Given the description of an element on the screen output the (x, y) to click on. 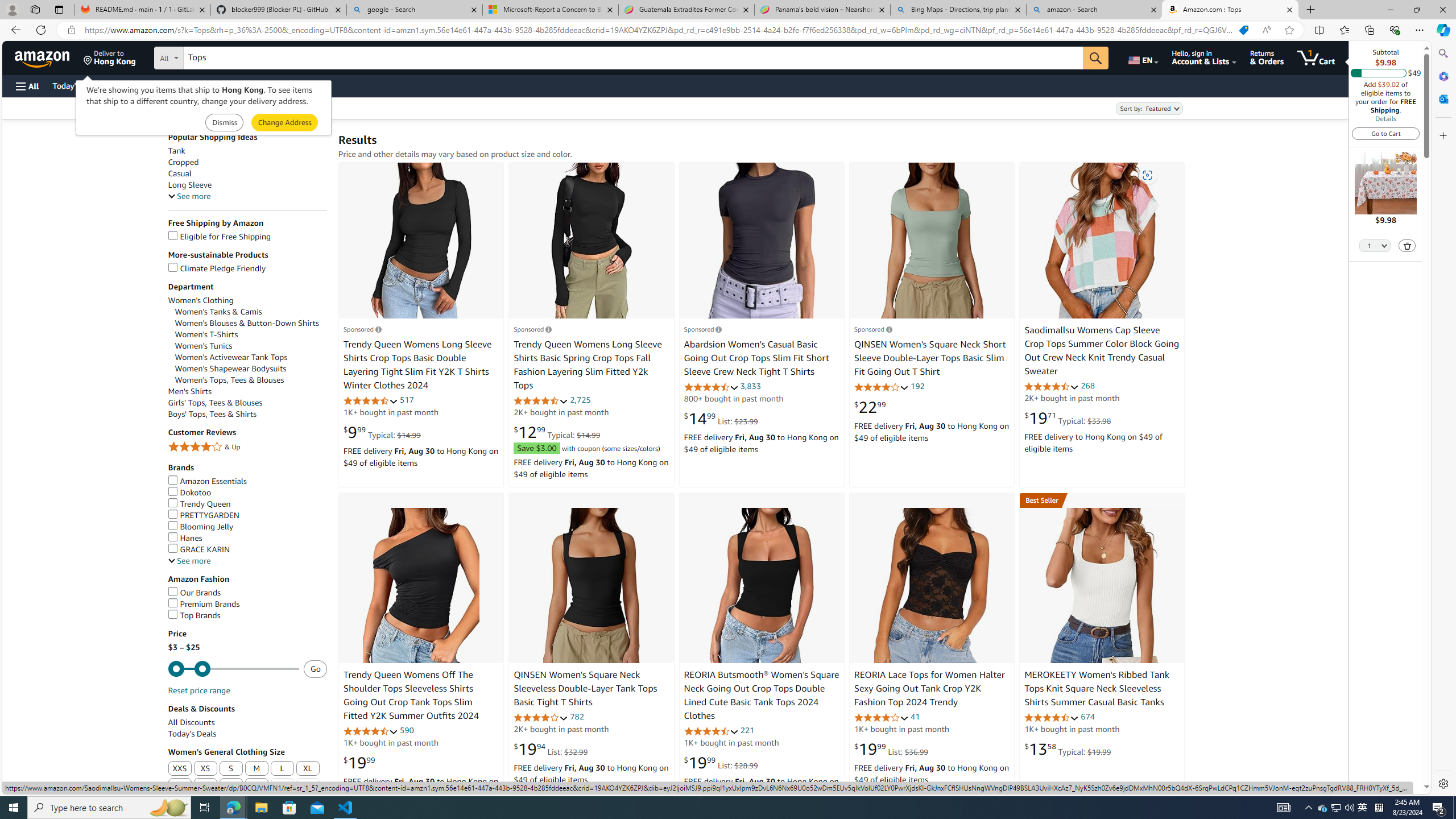
PRETTYGARDEN (247, 515)
$19.71 Typical: $33.98 (1067, 417)
XXS (179, 768)
Skip to main search results (50, 788)
GRACE KARIN (198, 549)
782 (576, 716)
Our Brands (194, 592)
Women's Blouses & Button-Down Shirts (246, 322)
590 (406, 729)
4 Stars & Up (247, 447)
Amazon Essentials (207, 480)
